Given the description of an element on the screen output the (x, y) to click on. 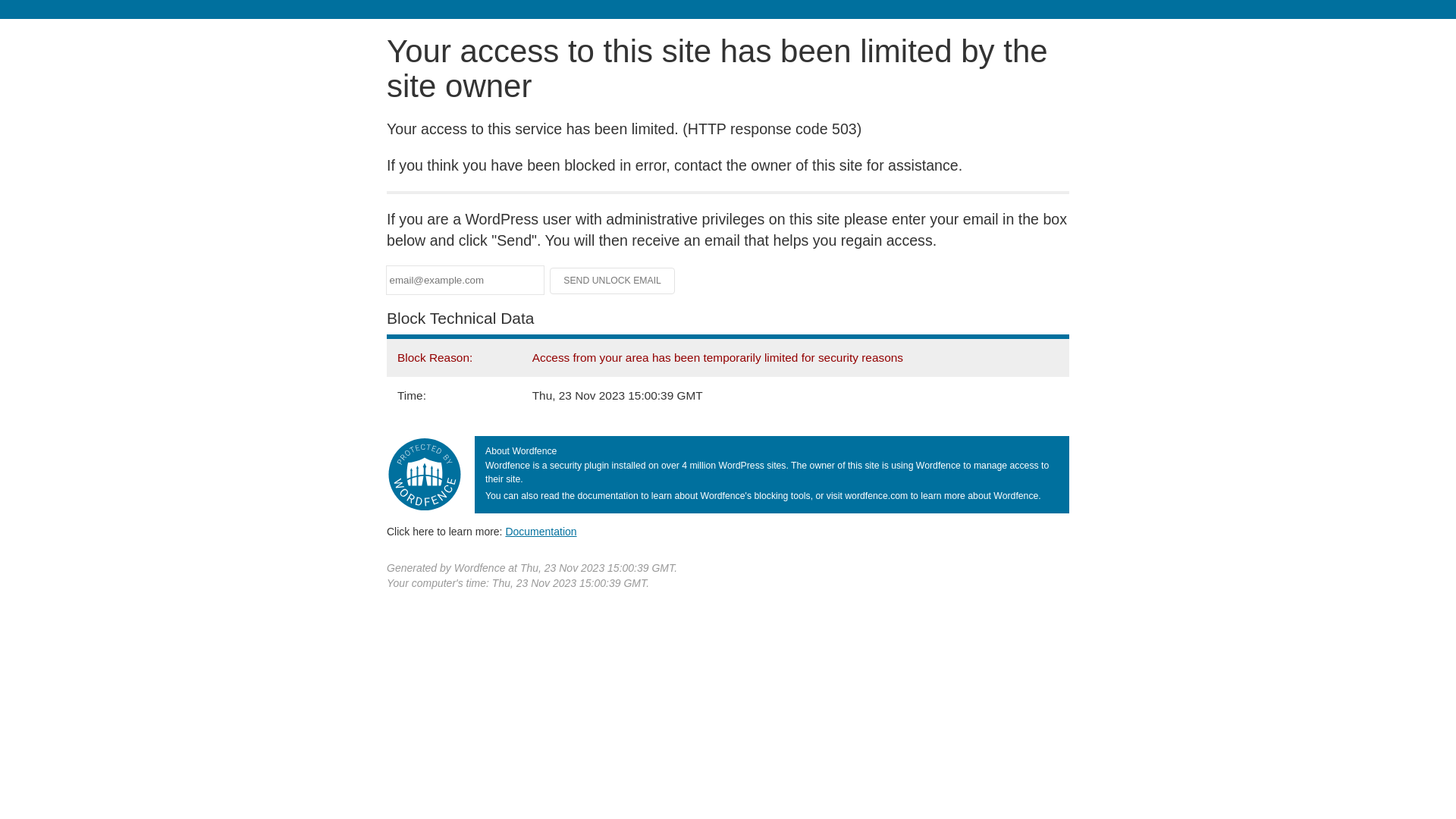
Documentation
(opens in new tab) Element type: text (540, 531)
Send Unlock Email Element type: text (612, 280)
